Given the description of an element on the screen output the (x, y) to click on. 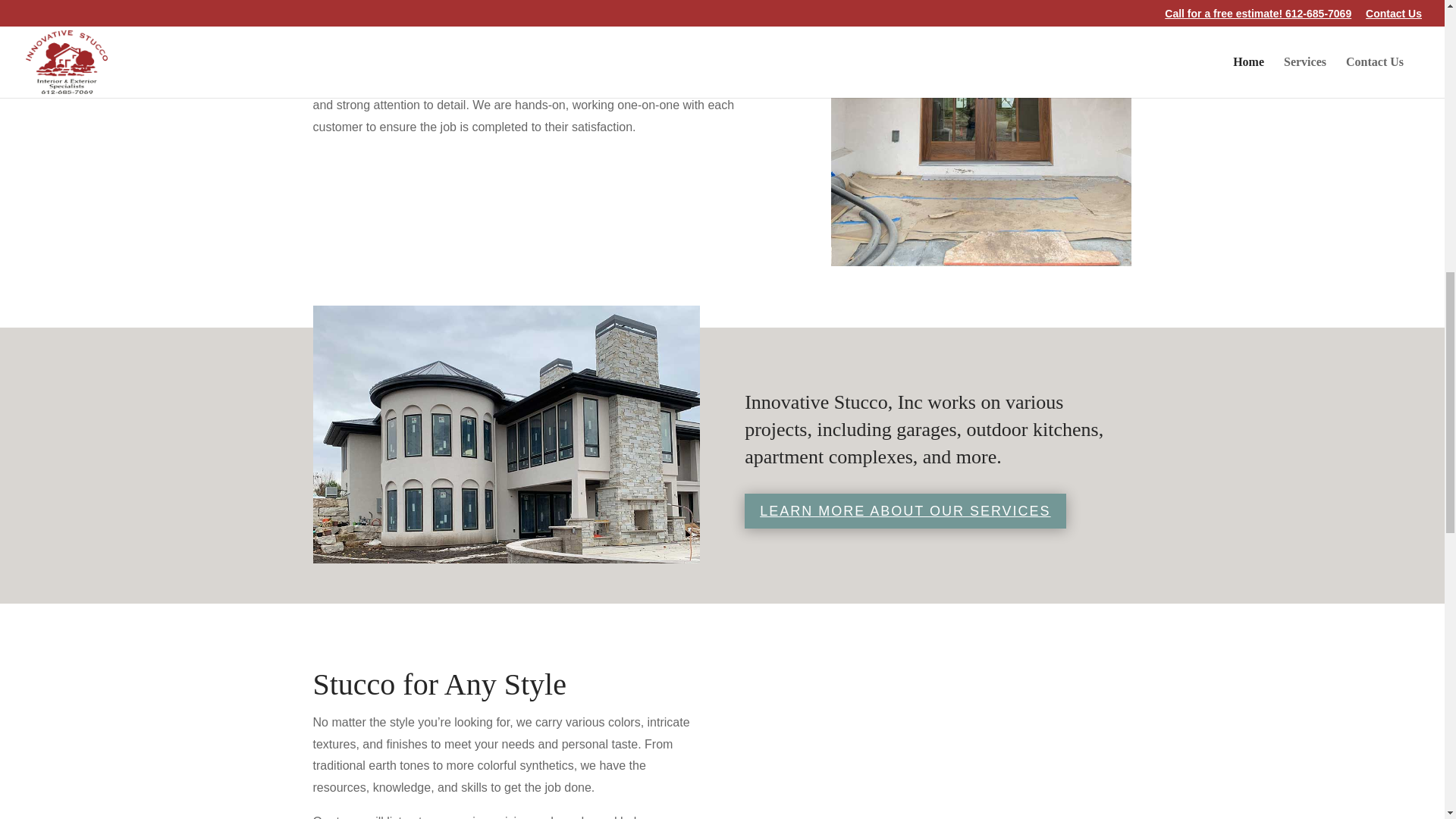
LEARN MORE ABOUT OUR SERVICES (904, 510)
